Given the description of an element on the screen output the (x, y) to click on. 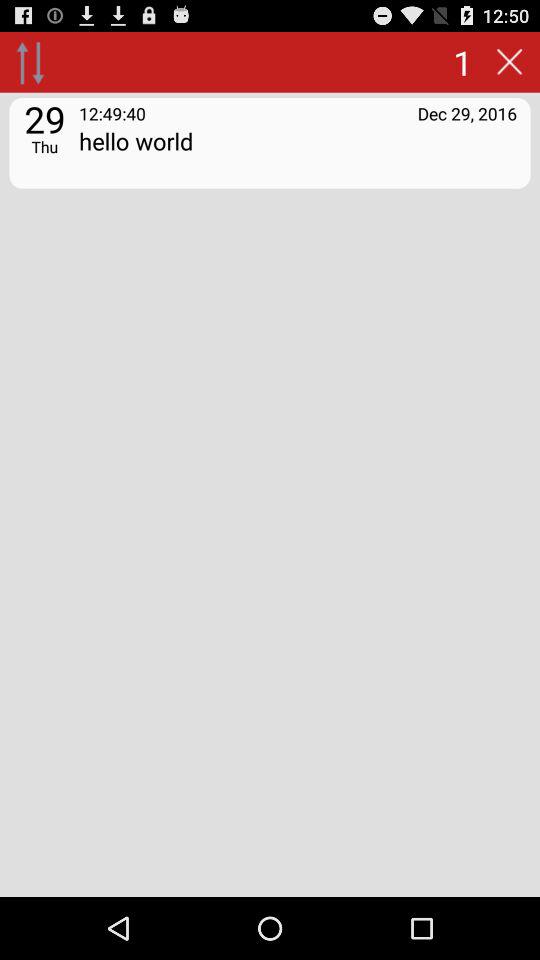
select the app above the hello world app (112, 112)
